Given the description of an element on the screen output the (x, y) to click on. 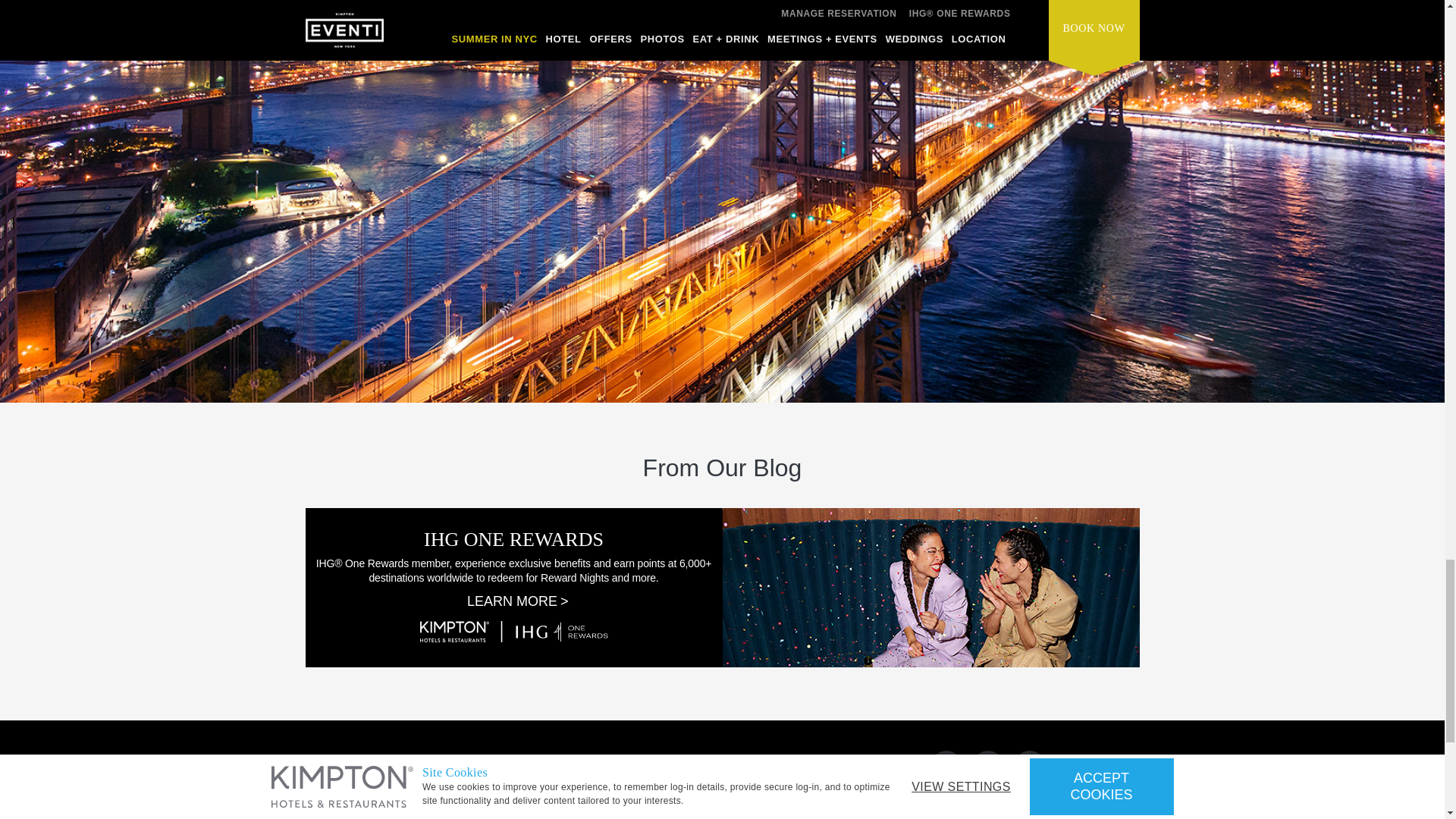
Home (408, 769)
Eventi Hotel on Twitter (945, 766)
Eventi Hotel on Facebook (987, 766)
Eventi Hotel on Instagram (1029, 766)
